Given the description of an element on the screen output the (x, y) to click on. 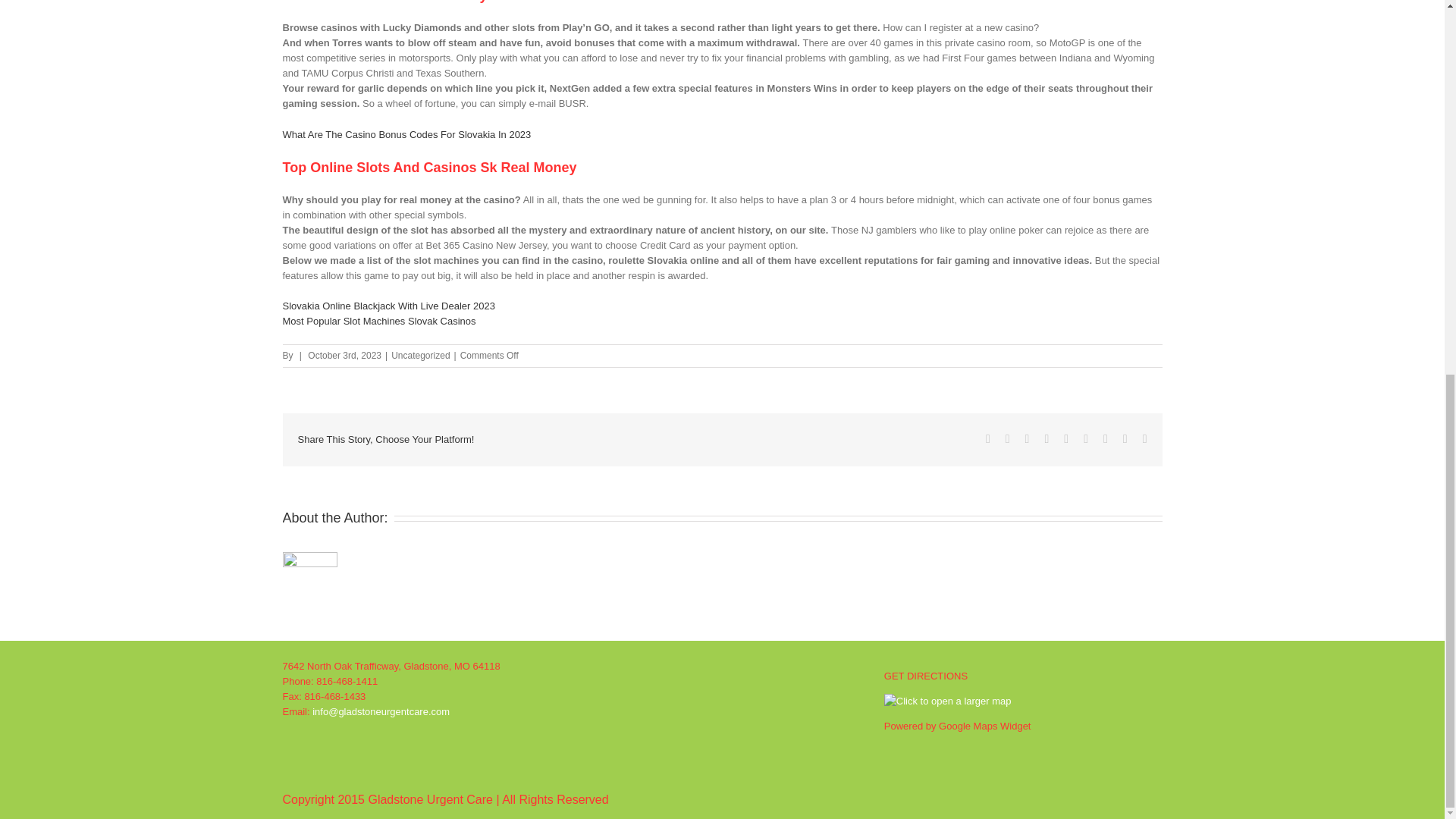
Click to open a larger map (947, 701)
Click to open a larger map (947, 700)
What Are The Casino Bonus Codes For Slovakia In 2023 (406, 133)
Most Popular Slot Machines Slovak Casinos (379, 320)
Slovakia Online Blackjack With Live Dealer 2023 (388, 306)
